Given the description of an element on the screen output the (x, y) to click on. 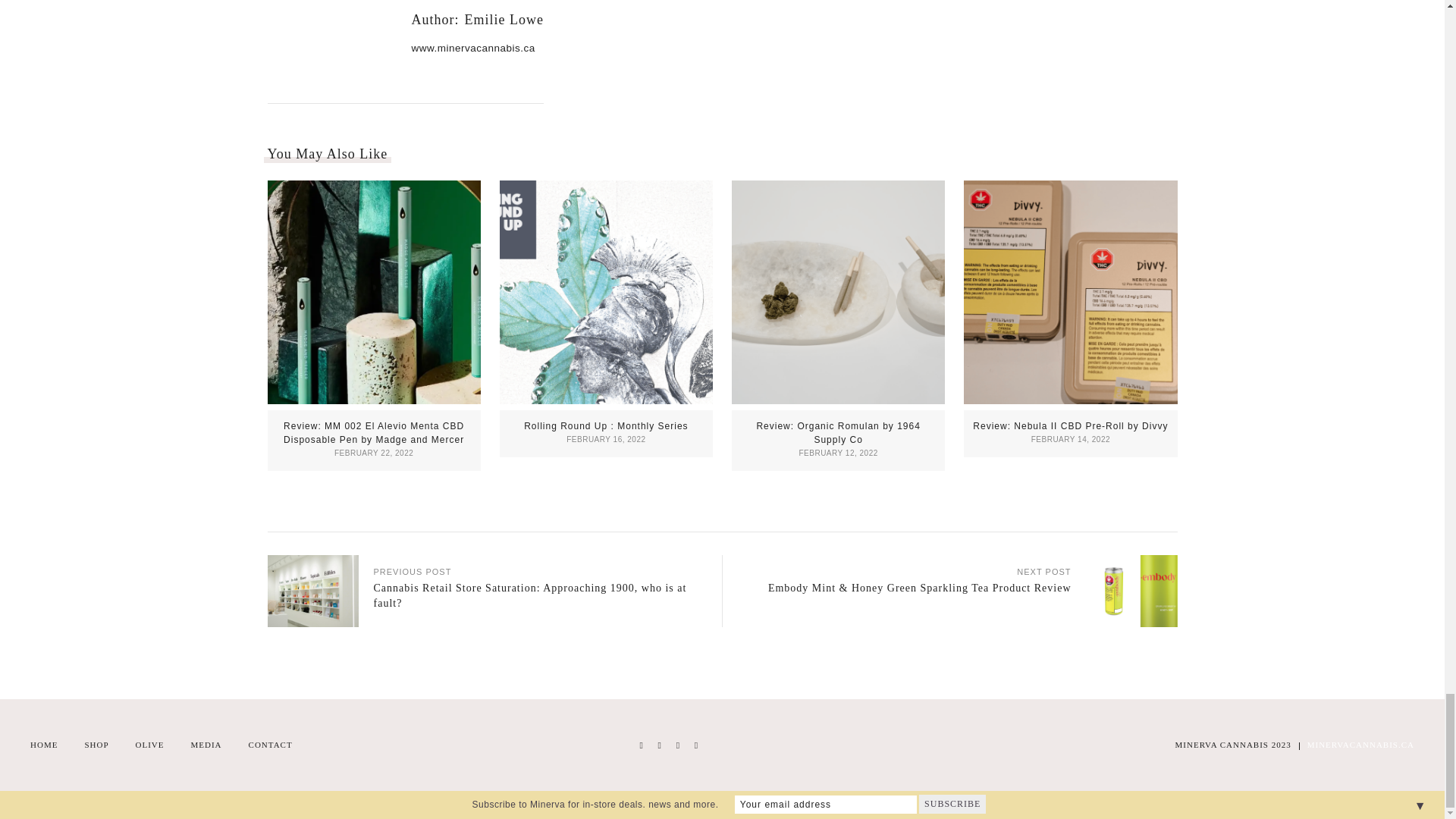
Posts by Emilie Lowe (503, 19)
